Given the description of an element on the screen output the (x, y) to click on. 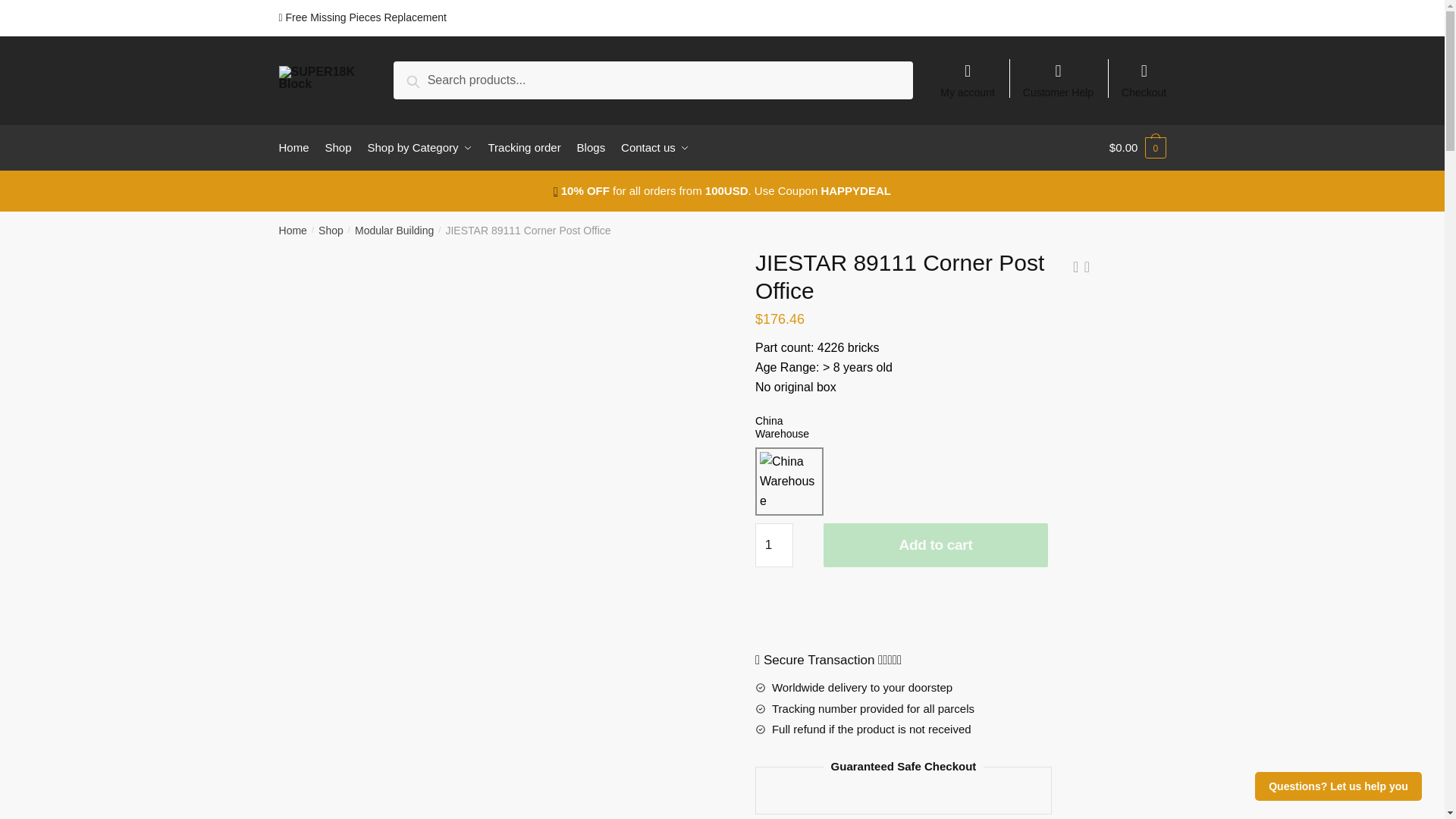
Shop (338, 147)
Search (430, 78)
Shop by Category (419, 147)
Customer Help (1058, 73)
Tracking order (524, 147)
Contact us (653, 147)
My account (967, 73)
View your shopping cart (1137, 147)
Checkout (1144, 73)
Blogs (590, 147)
